Given the description of an element on the screen output the (x, y) to click on. 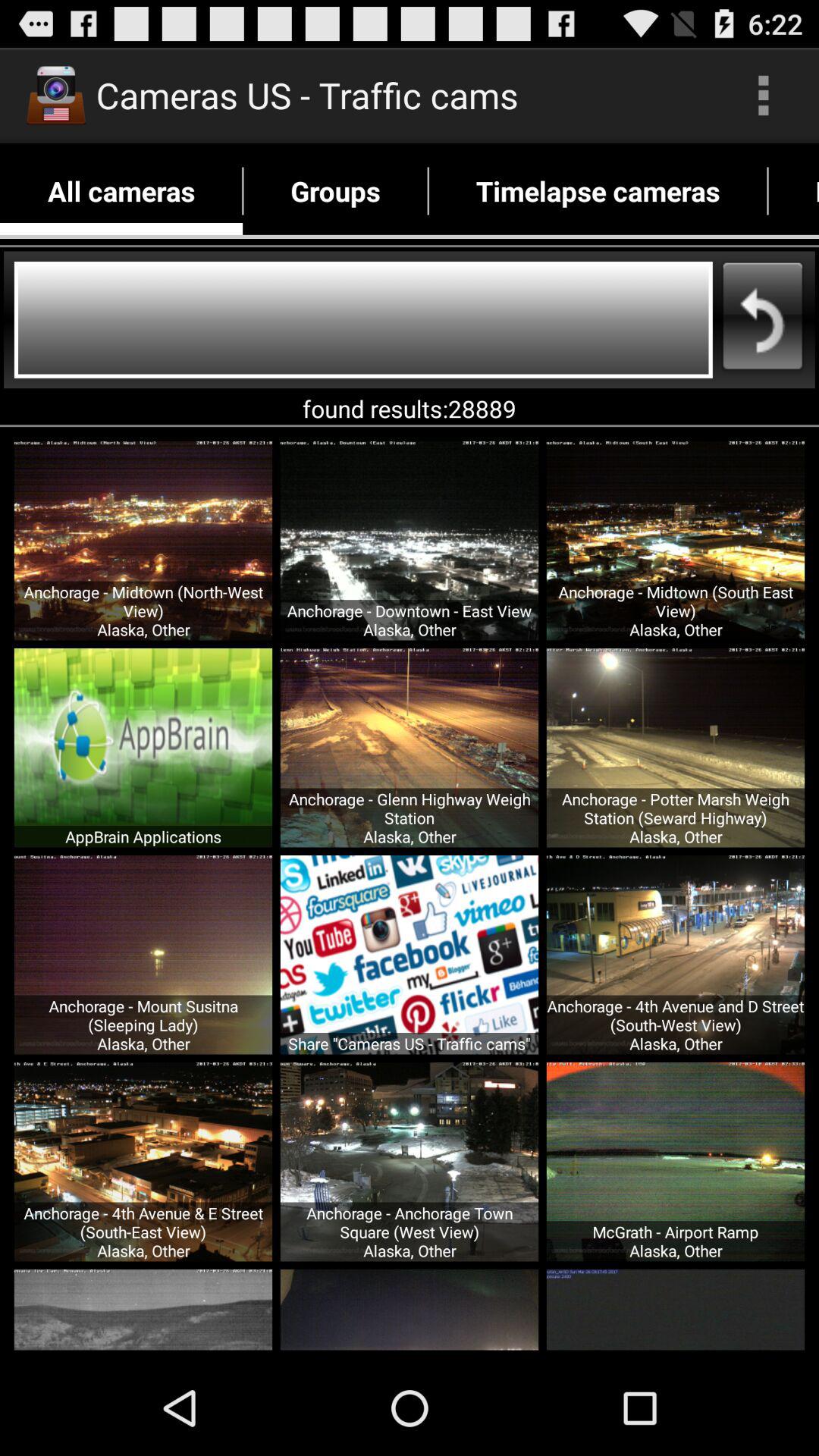
go back (363, 319)
